Given the description of an element on the screen output the (x, y) to click on. 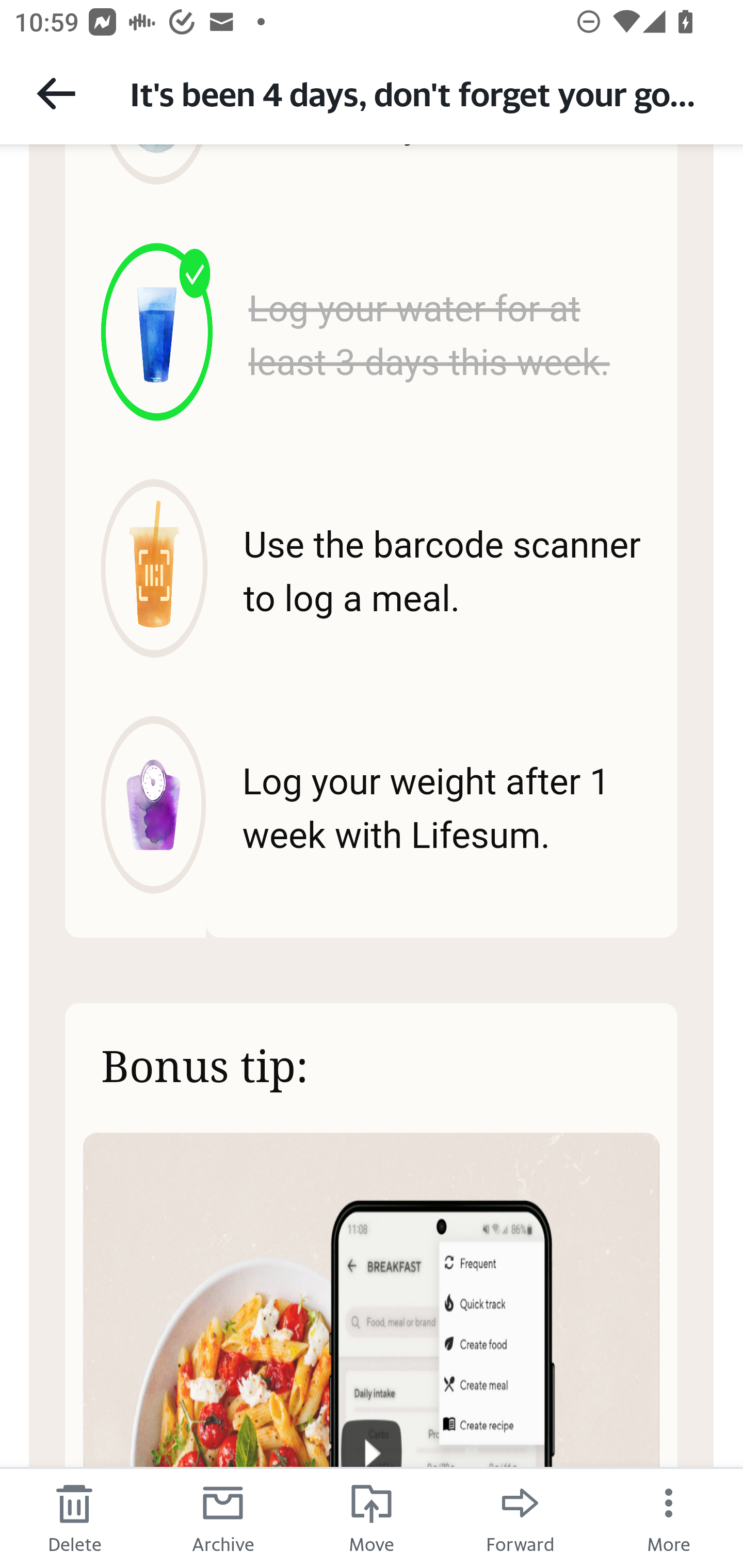
Back (55, 92)
Delete (74, 1517)
Archive (222, 1517)
Move (371, 1517)
Forward (519, 1517)
More (668, 1517)
